Given the description of an element on the screen output the (x, y) to click on. 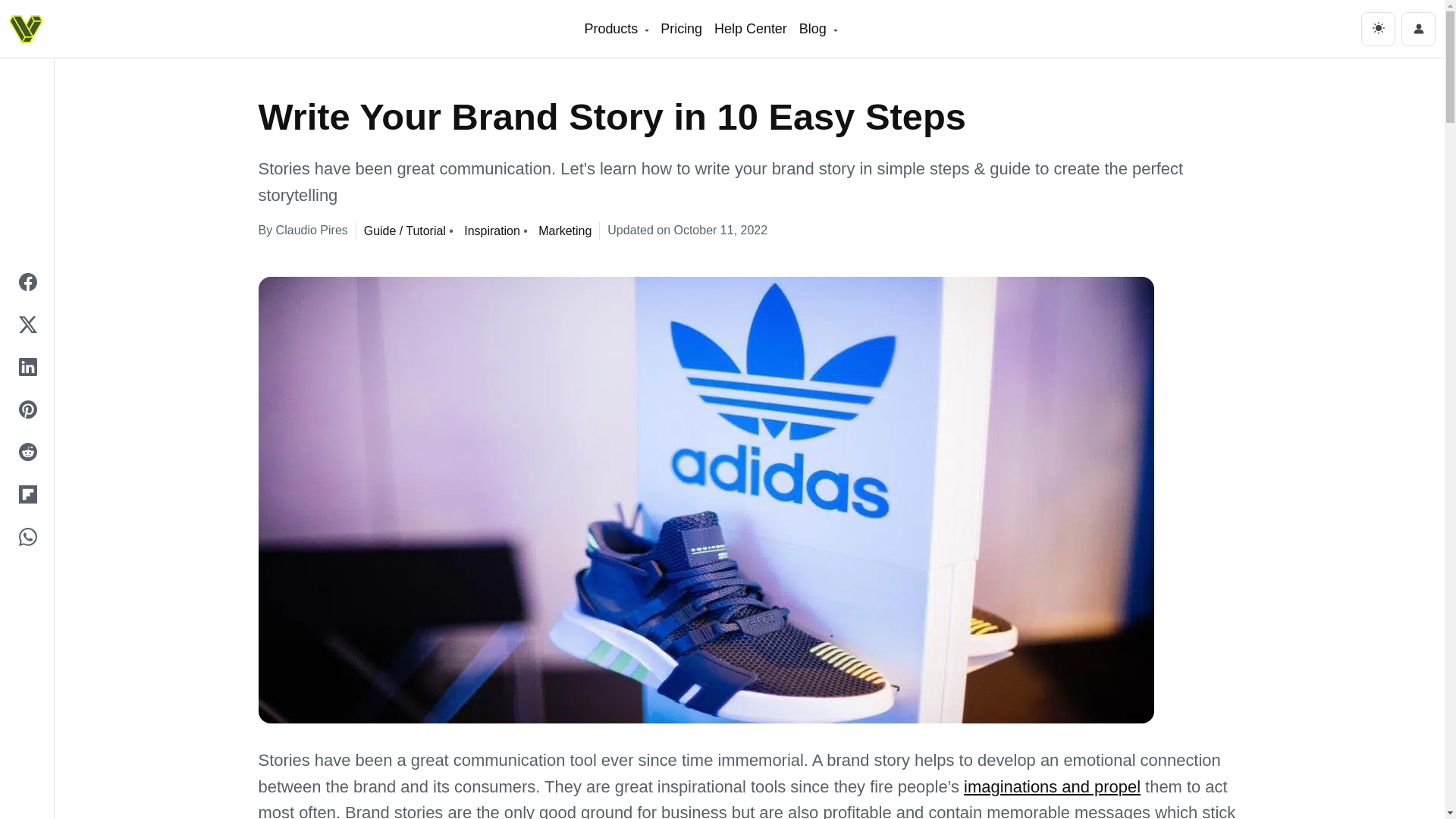
Marketing (561, 230)
Products (615, 28)
imaginations and propel (1051, 786)
Products (615, 28)
Pricing (680, 28)
Pricing (680, 28)
Blog (818, 28)
Help Center (750, 28)
Inspiration (488, 230)
Help Center (750, 28)
Account (1417, 28)
Blog (818, 28)
